Given the description of an element on the screen output the (x, y) to click on. 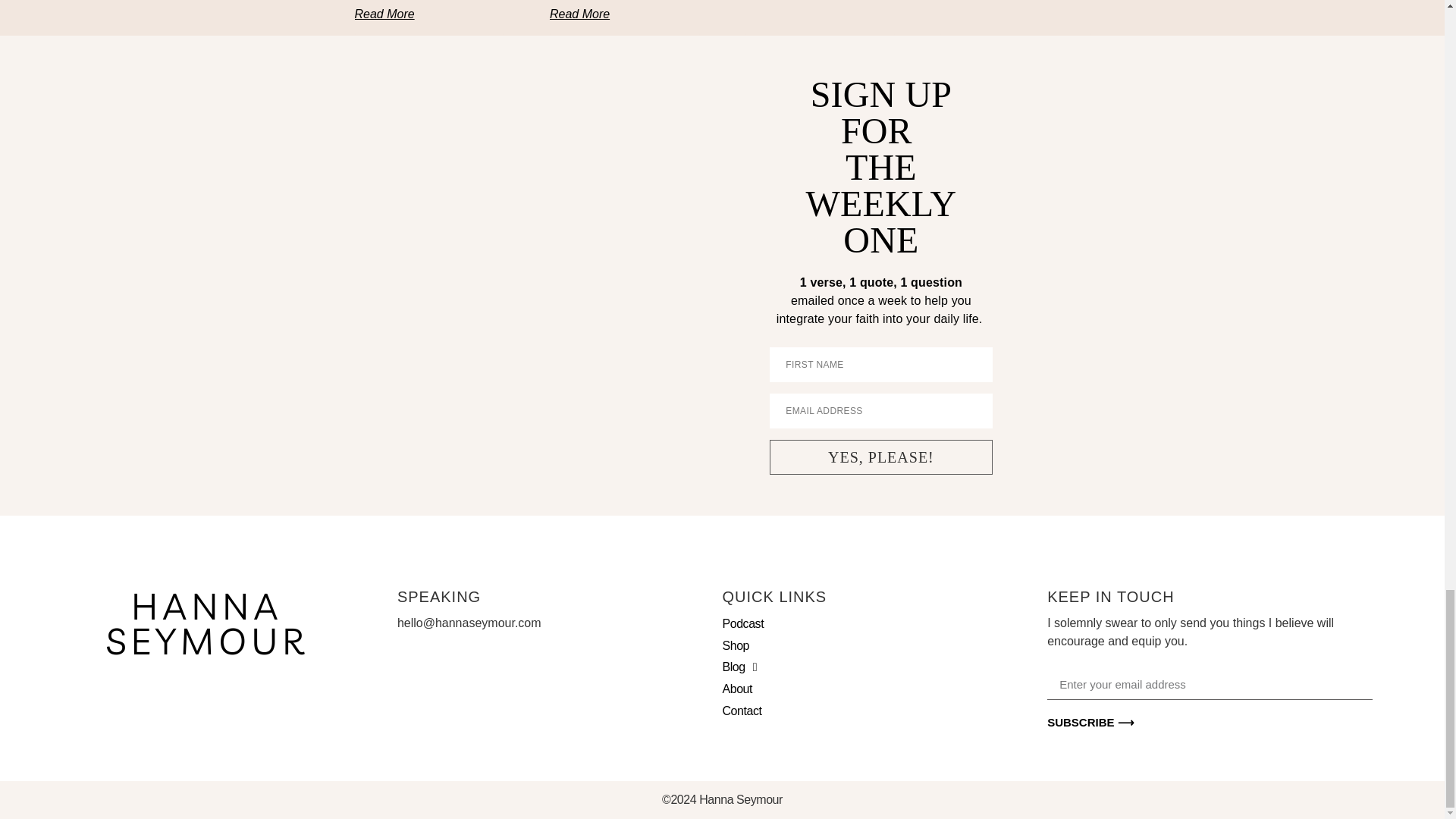
Read More (384, 14)
Read More (970, 0)
Read More (580, 14)
Read More (774, 0)
